Given the description of an element on the screen output the (x, y) to click on. 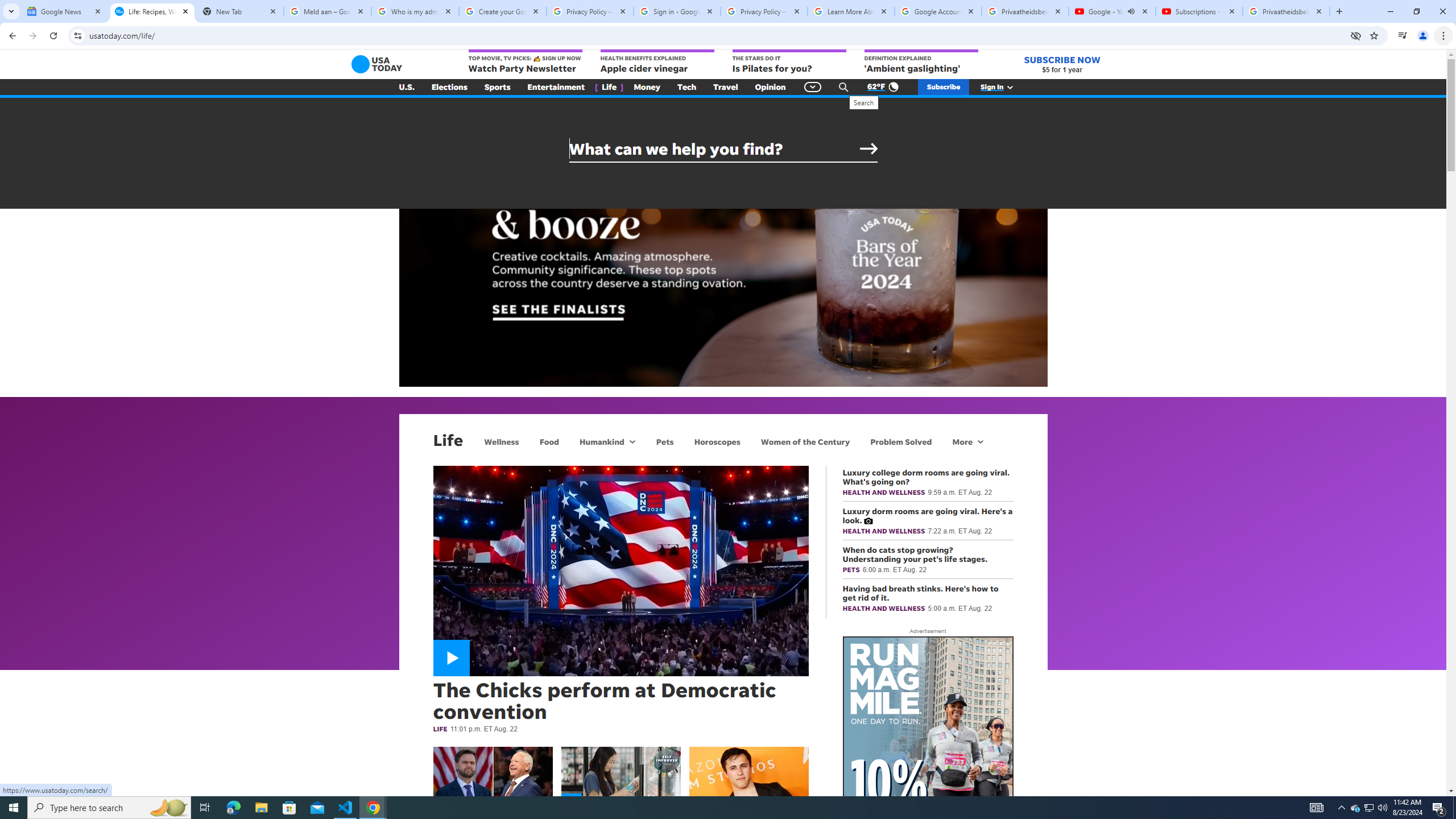
HEALTH BENEFITS EXPLAINED Apple cider vinegar (656, 62)
Problem Solved (901, 441)
Create your Google Account (502, 11)
Google - YouTube - Audio playing (1111, 11)
Search query (723, 148)
Global Navigation (812, 87)
Horoscopes (717, 441)
THE STARS DO IT Is Pilates for you? (788, 62)
SUBSCRIBE NOW $5 for 1 year (1062, 64)
